Given the description of an element on the screen output the (x, y) to click on. 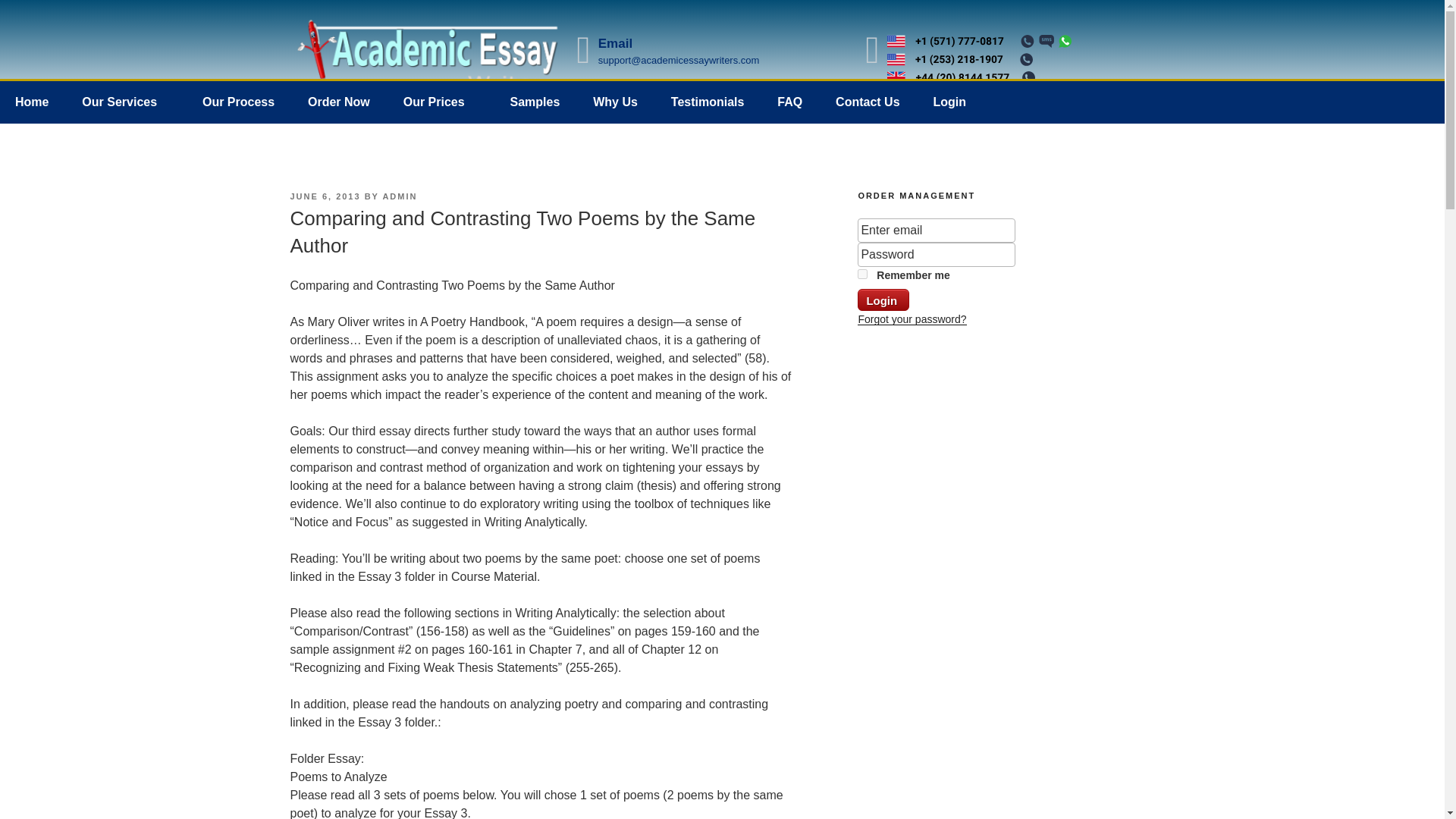
Home (32, 102)
Contact Us (867, 102)
Our Prices (440, 102)
click to Login (882, 300)
Our Process (238, 102)
Order Now (338, 102)
Our Services (125, 102)
Login (949, 102)
Why Us (615, 102)
Testimonials (708, 102)
